Given the description of an element on the screen output the (x, y) to click on. 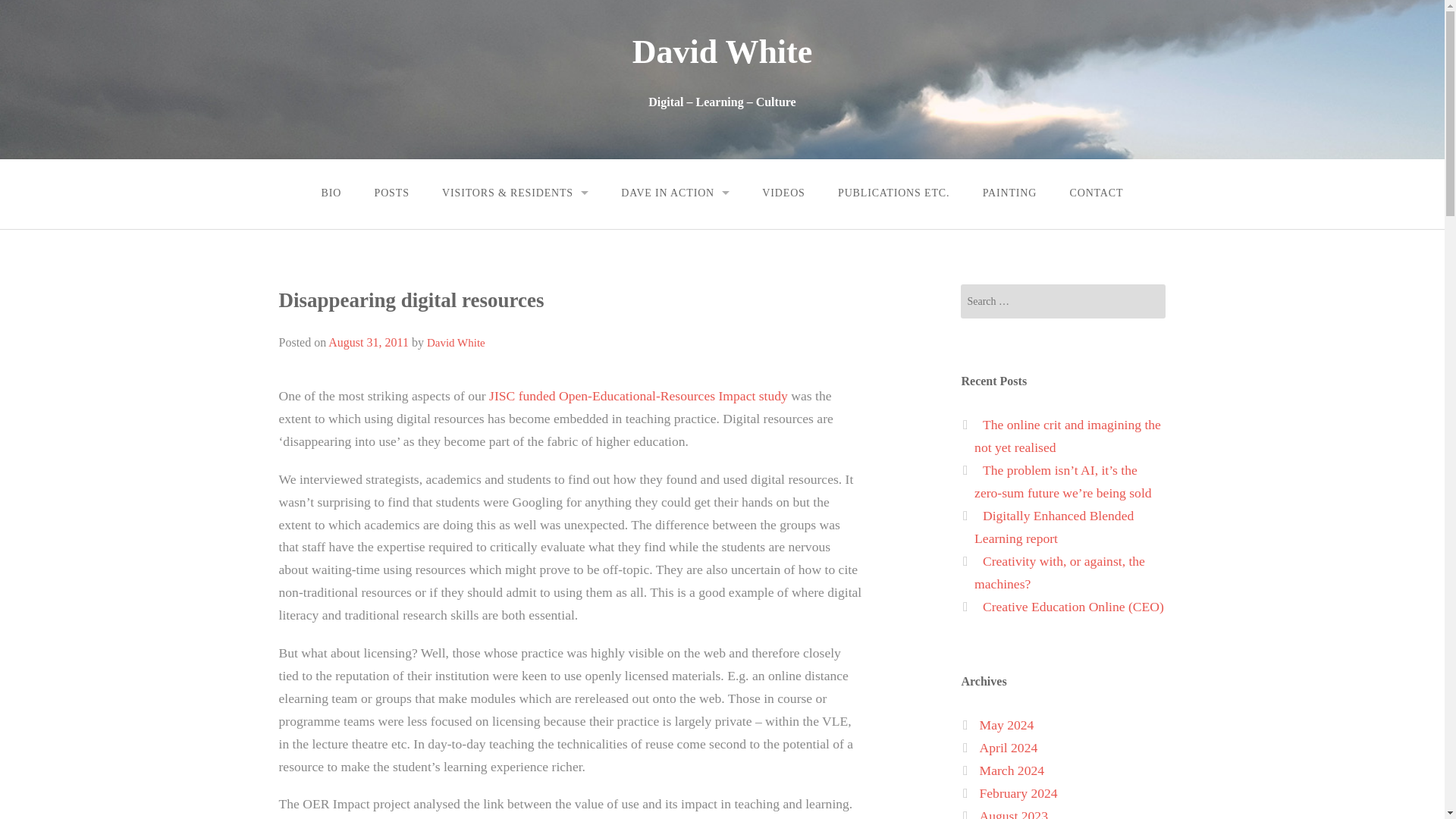
August 31, 2011 (369, 341)
PAINTING (1009, 192)
PUBLICATIONS ETC. (893, 192)
POSTS (392, 192)
CONTACT (1096, 192)
JISC funded Open-Educational-Resources Impact study (638, 395)
BIO (331, 192)
DAVE IN ACTION (675, 192)
David White (455, 342)
OER Impact Study (638, 395)
David White (721, 51)
VIDEOS (783, 192)
